Given the description of an element on the screen output the (x, y) to click on. 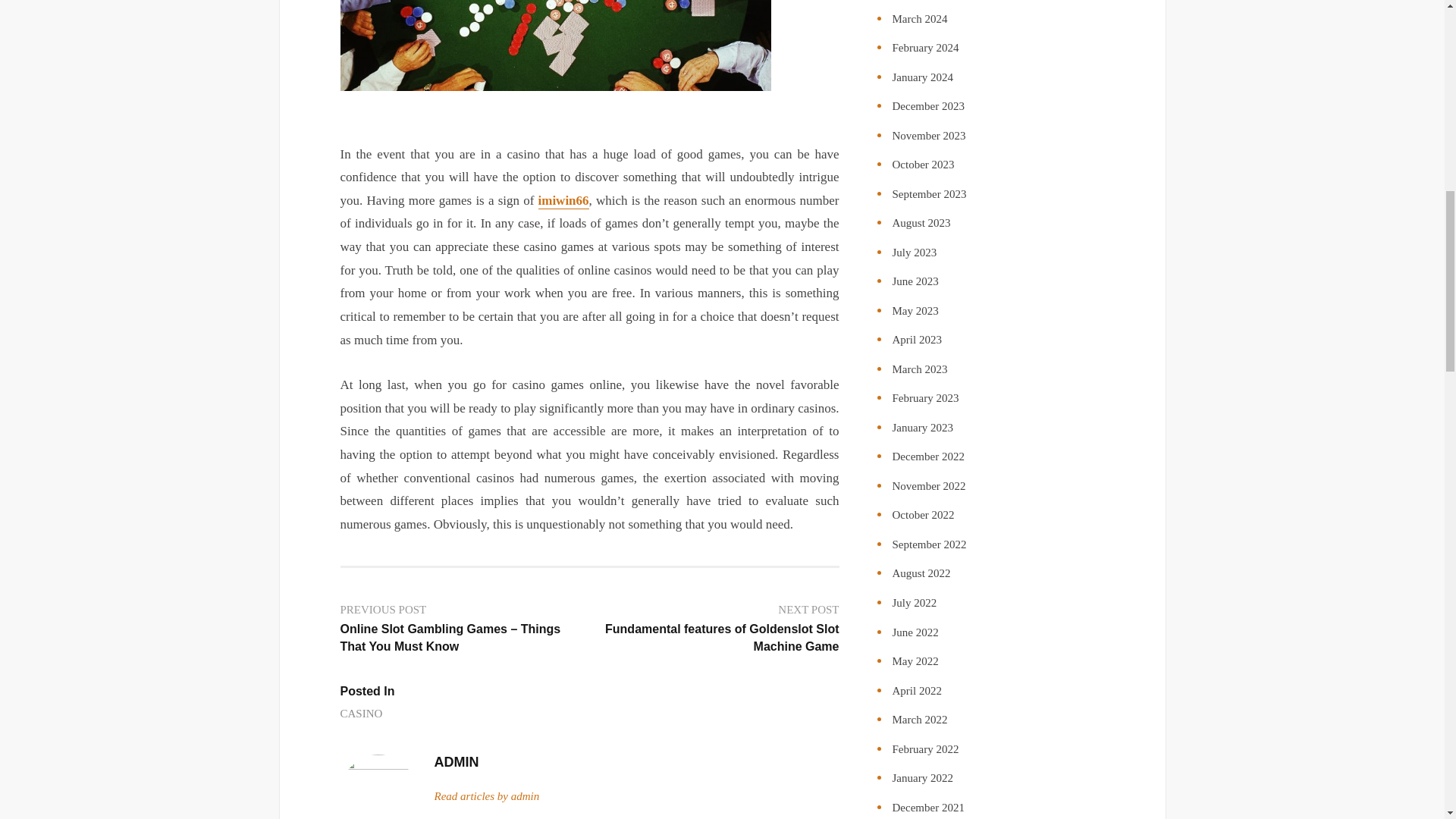
April 2023 (915, 339)
May 2023 (914, 310)
June 2023 (914, 281)
July 2023 (913, 252)
February 2024 (924, 47)
September 2023 (928, 193)
Read articles by admin (485, 796)
August 2023 (920, 223)
March 2024 (919, 19)
January 2024 (921, 77)
November 2023 (928, 135)
imiwin66 (563, 201)
CASINO (360, 713)
October 2023 (922, 164)
December 2023 (927, 105)
